Given the description of an element on the screen output the (x, y) to click on. 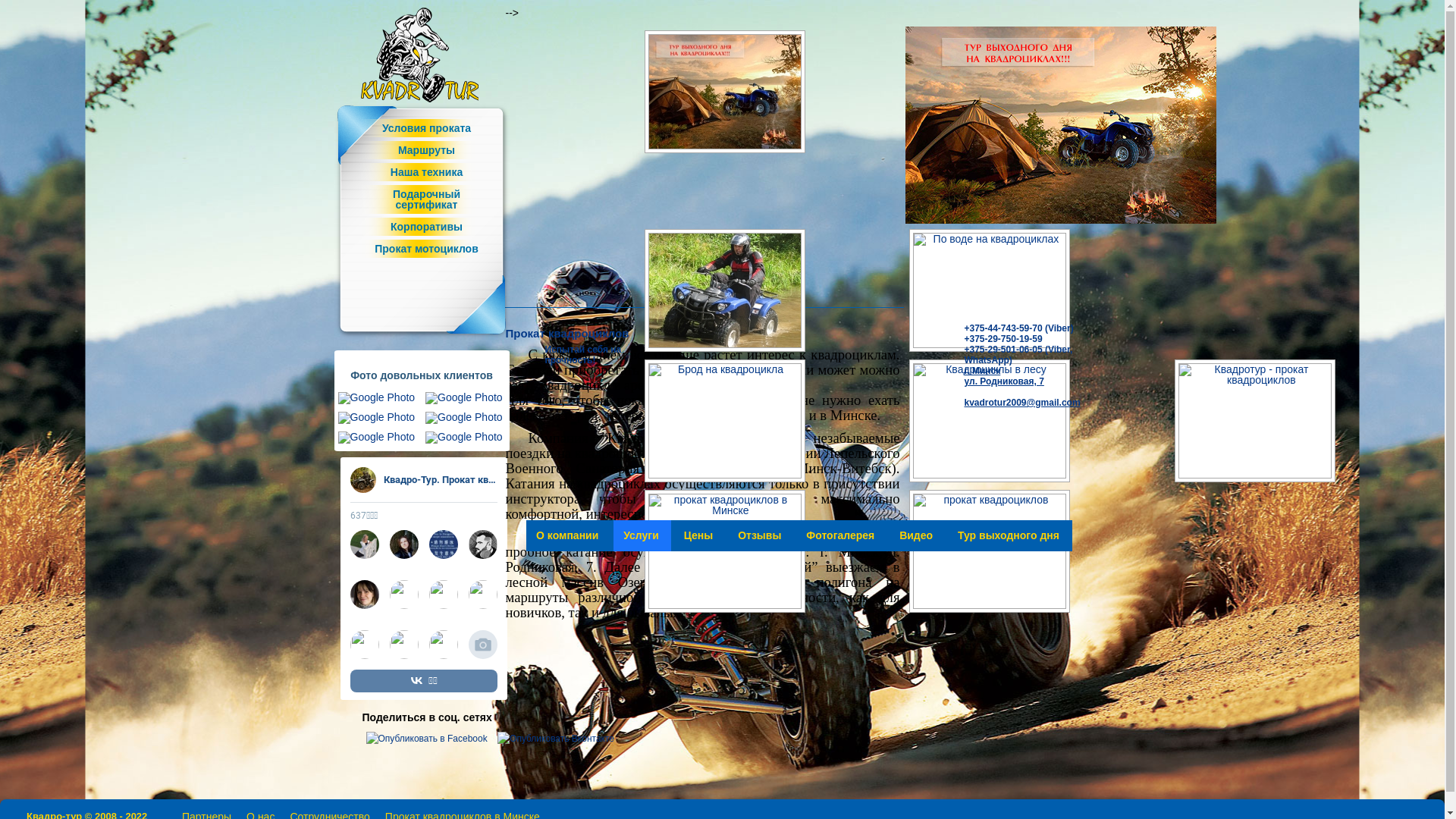
kvadrotur2009@gmail.com Element type: text (1022, 402)
vyxodnoy_na_kvadrociklax Element type: hover (723, 91)
